Given the description of an element on the screen output the (x, y) to click on. 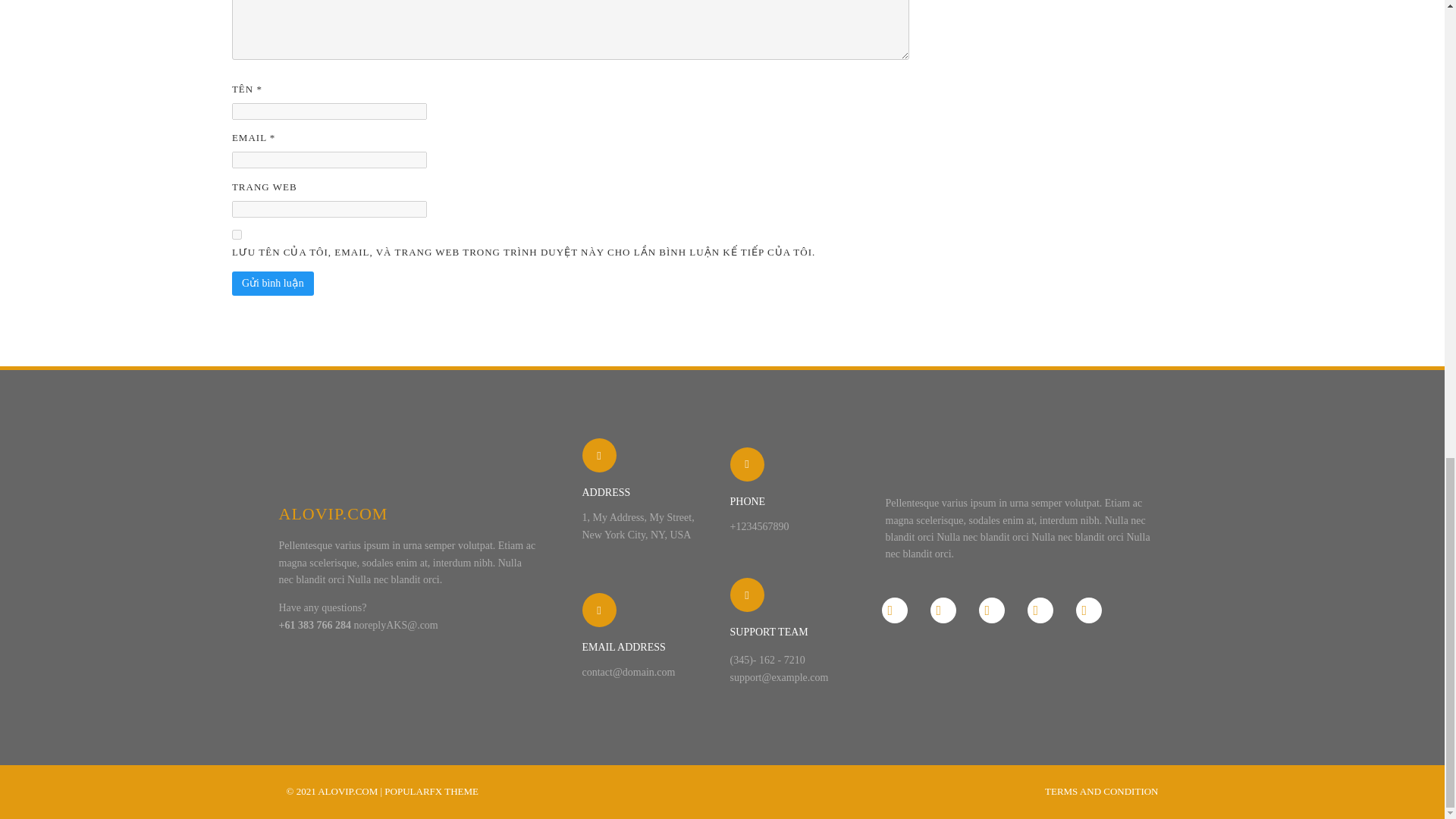
ALOVIP.COM (408, 513)
POPULARFX THEME (431, 790)
yes (236, 234)
